Given the description of an element on the screen output the (x, y) to click on. 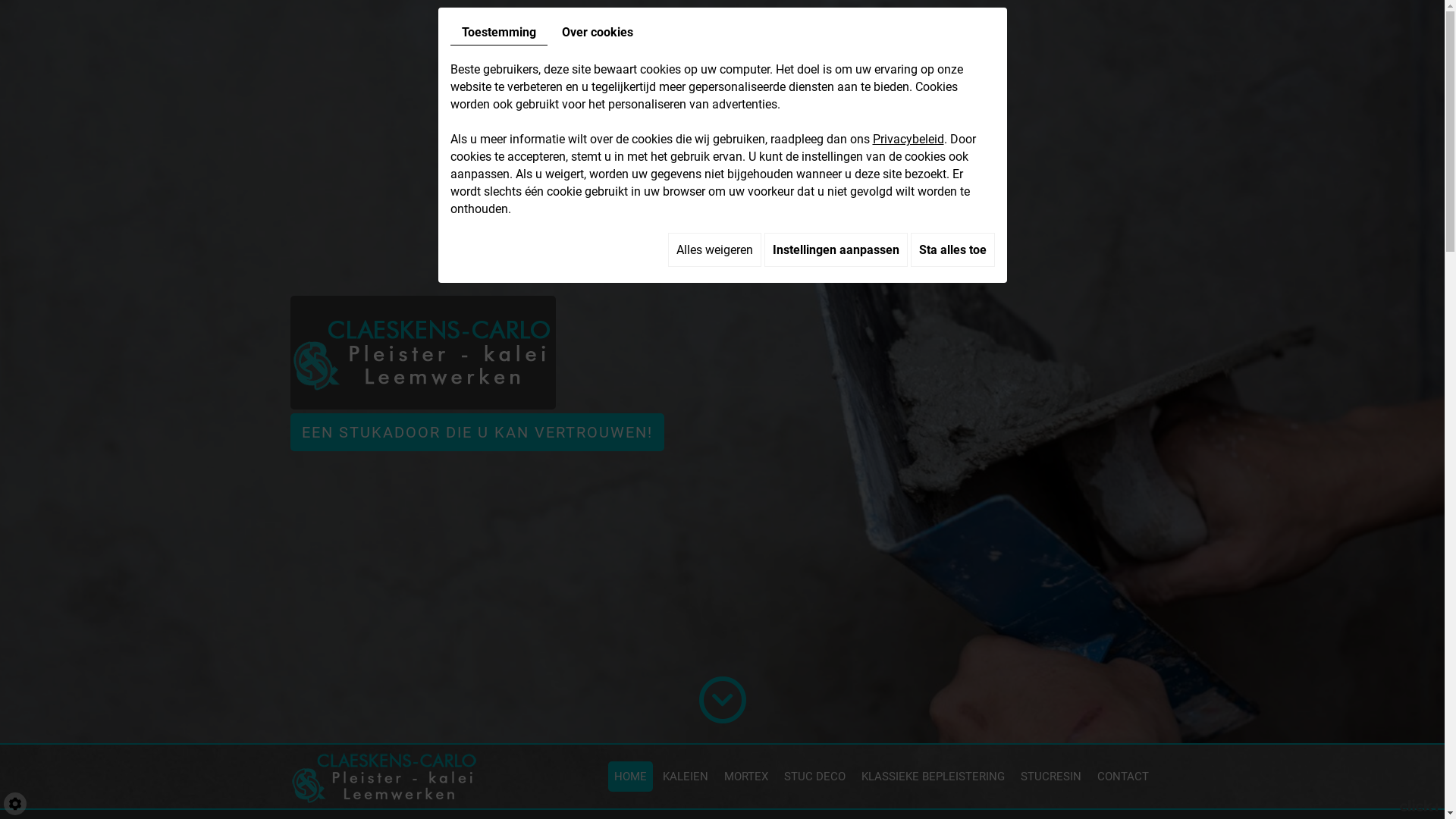
Instellingen aanpassen Element type: text (835, 249)
KALEIEN Element type: text (685, 776)
Cookie-instelling bewerken Element type: text (14, 803)
Sta alles toe Element type: text (952, 249)
Claeskens Carlo Element type: hover (384, 774)
CONTACT Element type: text (1122, 776)
HOME Element type: text (630, 776)
STUCRESIN Element type: text (1050, 776)
MORTEX Element type: text (745, 776)
Alles weigeren Element type: text (713, 249)
Privacybeleid Element type: text (907, 138)
KLASSIEKE BEPLEISTERING Element type: text (932, 776)
Claeskens Carlo Element type: hover (422, 349)
Toestemming Element type: text (498, 32)
Over cookies Element type: text (597, 31)
STUC DECO Element type: text (814, 776)
